Given the description of an element on the screen output the (x, y) to click on. 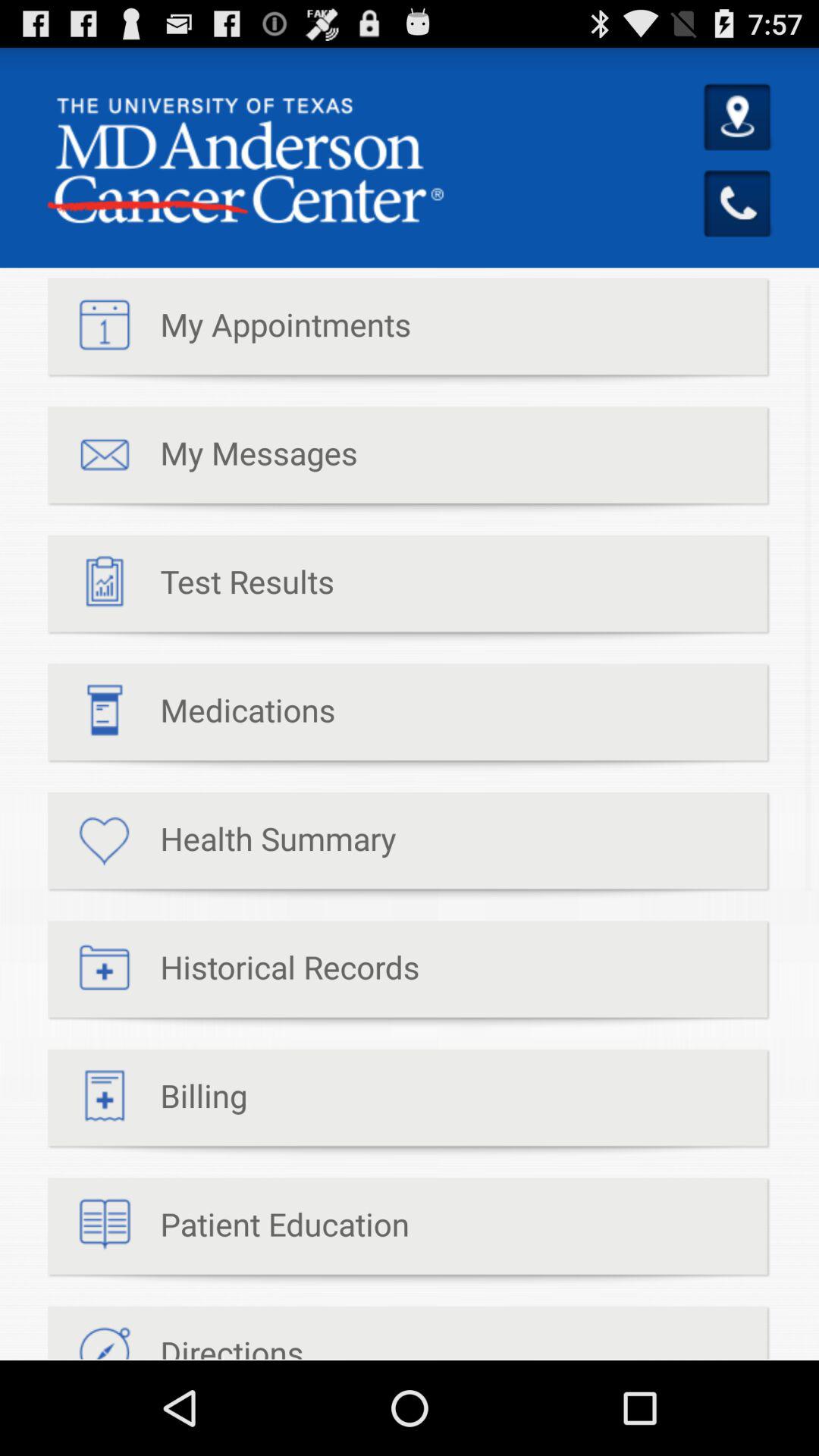
select the patient education icon (228, 1231)
